Given the description of an element on the screen output the (x, y) to click on. 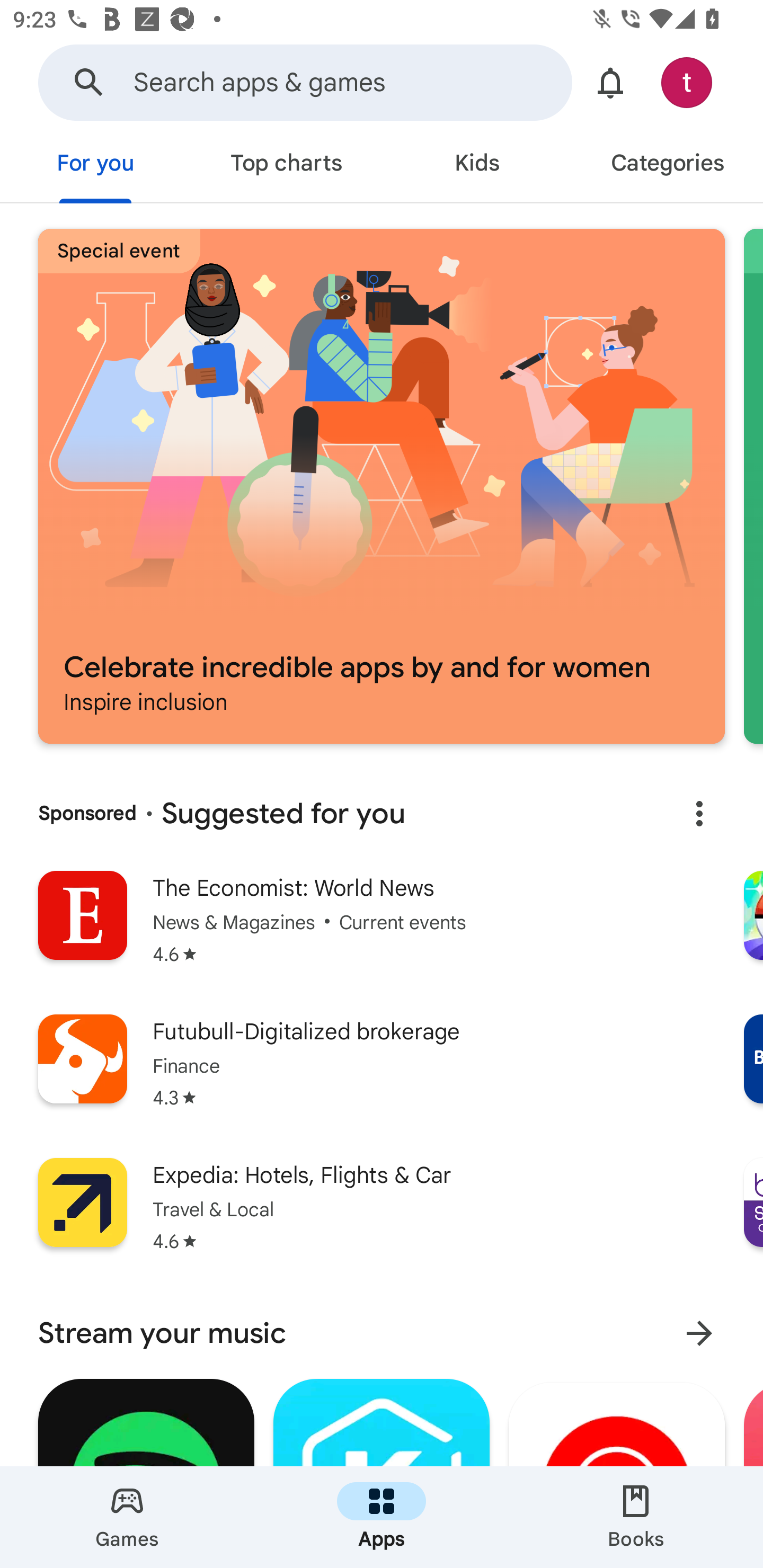
Search Google Play Search apps & games (305, 81)
Search Google Play (89, 81)
Show notifications and offers. (610, 81)
Top charts (285, 165)
Kids (476, 165)
Categories (667, 165)
About this ad (699, 813)
More results for Stream your music (699, 1333)
Games (127, 1517)
Books (635, 1517)
